Given the description of an element on the screen output the (x, y) to click on. 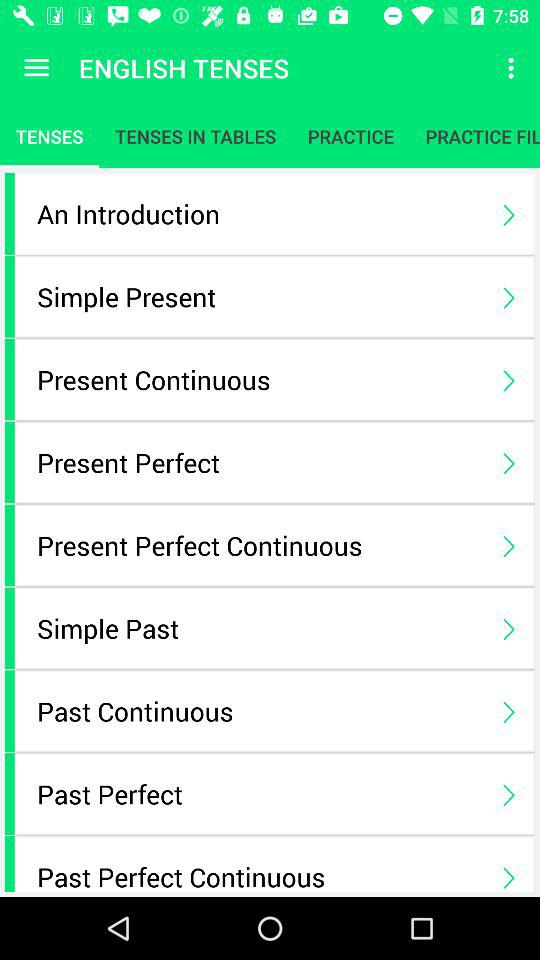
select the item above the simple present (259, 213)
